Given the description of an element on the screen output the (x, y) to click on. 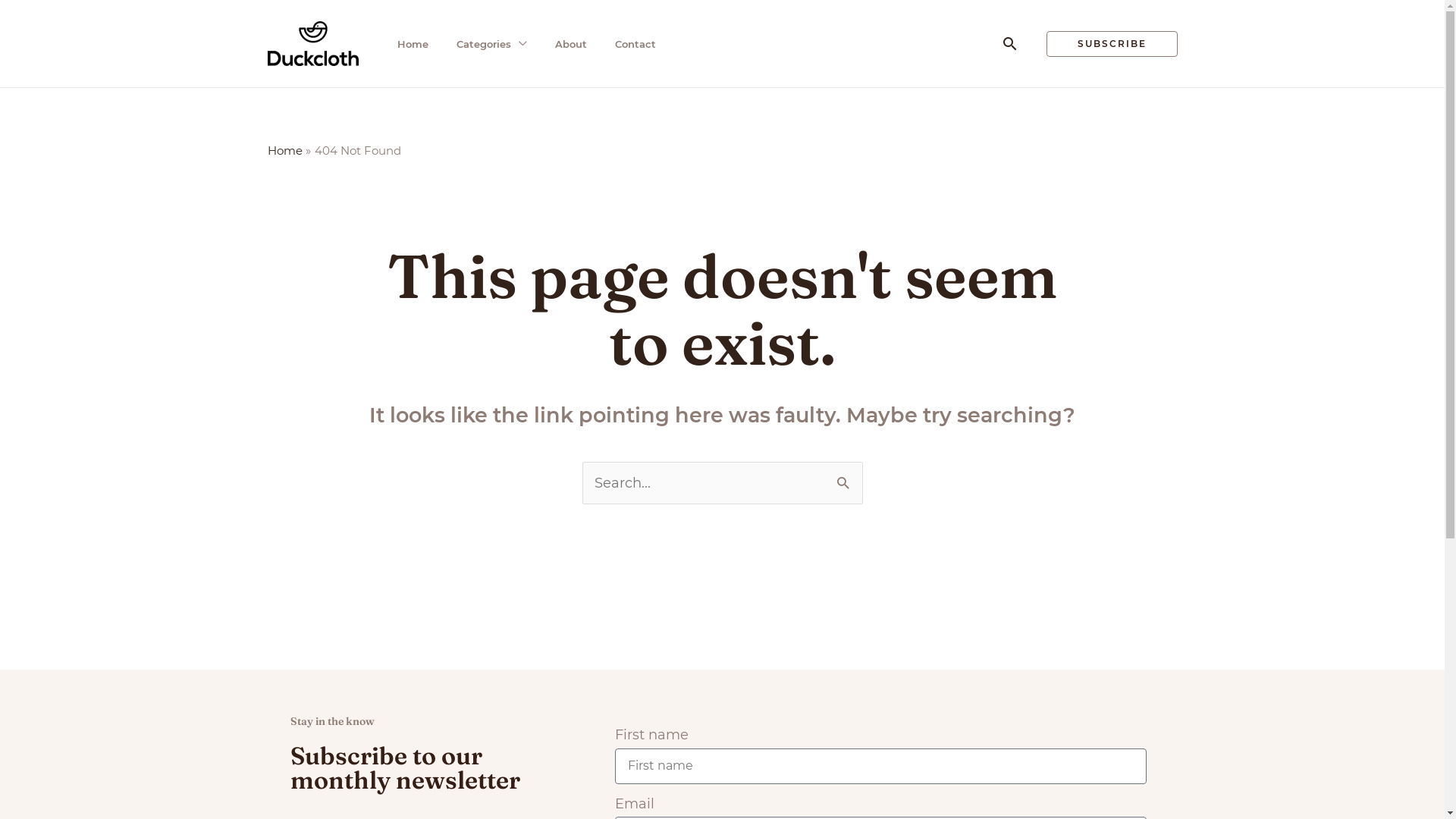
Home Element type: text (283, 150)
Categories Element type: text (494, 42)
About Element type: text (574, 42)
Home Element type: text (415, 42)
SUBSCRIBE Element type: text (1111, 43)
Contact Element type: text (639, 42)
Search Element type: text (845, 476)
Search Element type: text (1010, 43)
